Given the description of an element on the screen output the (x, y) to click on. 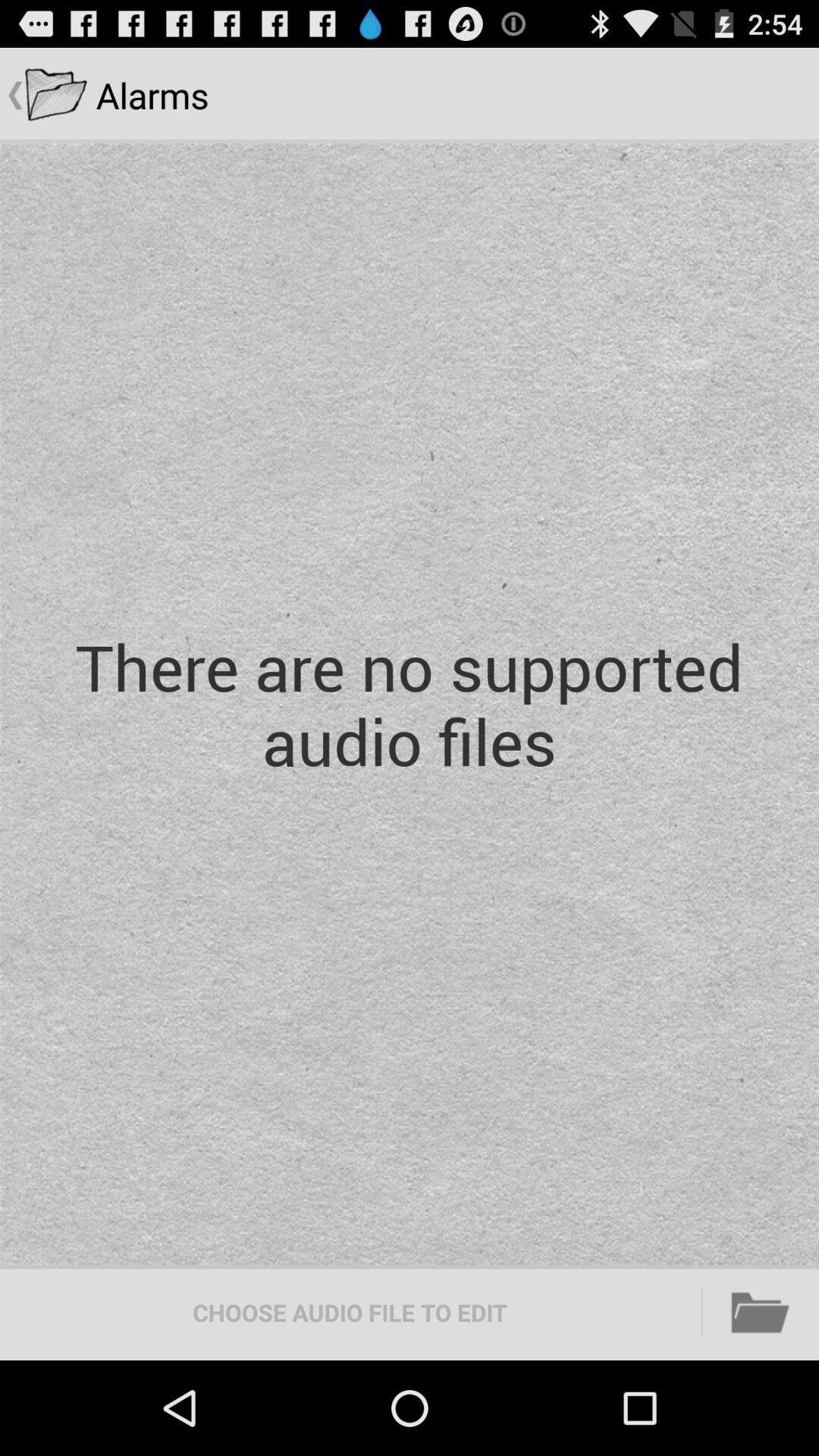
open the item at the bottom (349, 1312)
